Given the description of an element on the screen output the (x, y) to click on. 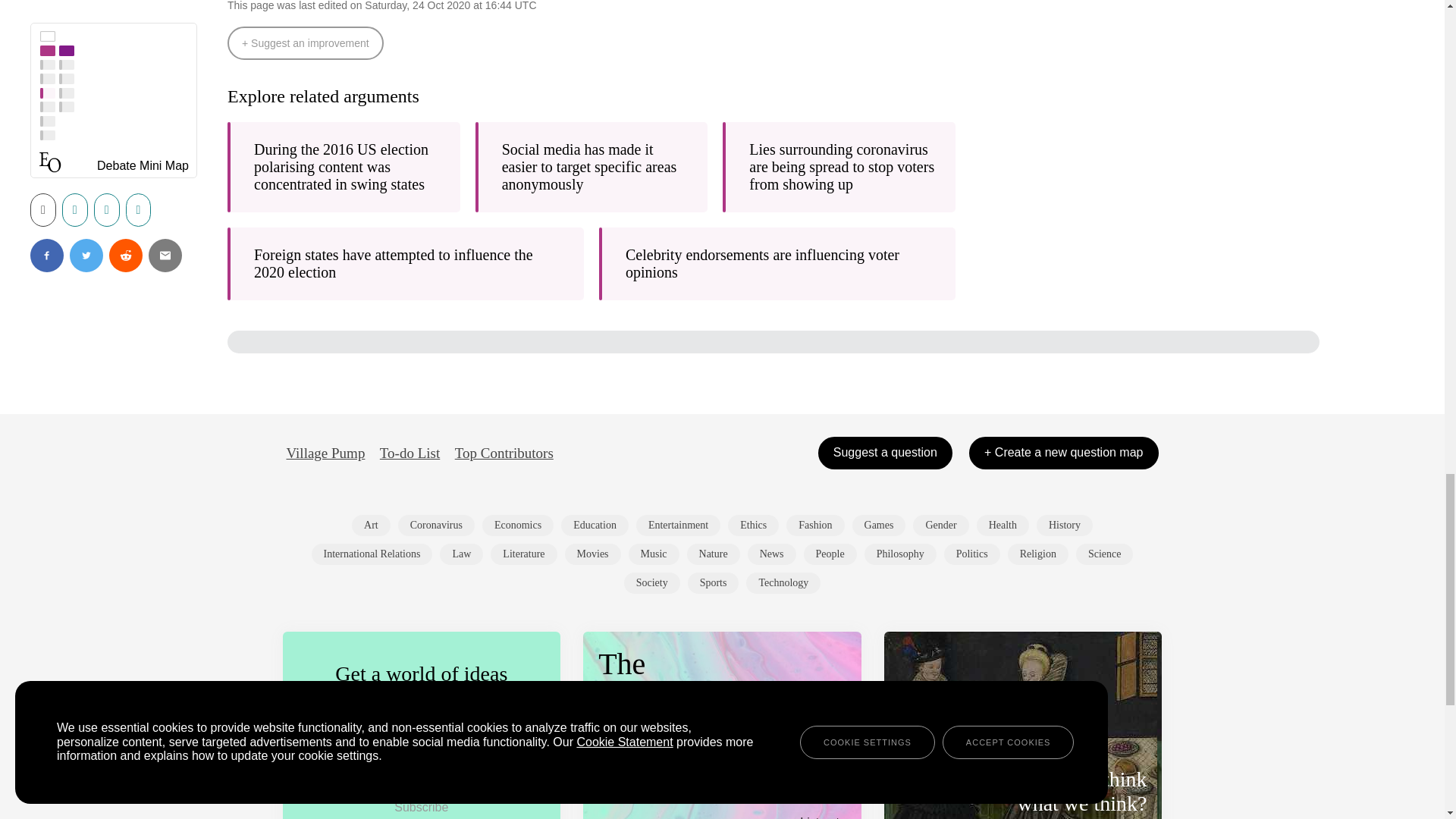
Category item (594, 525)
Category item (815, 525)
Category item (753, 525)
Category item (517, 525)
Category item (678, 525)
Category item (878, 525)
Category item (940, 525)
Category item (435, 525)
Category item (371, 525)
